Given the description of an element on the screen output the (x, y) to click on. 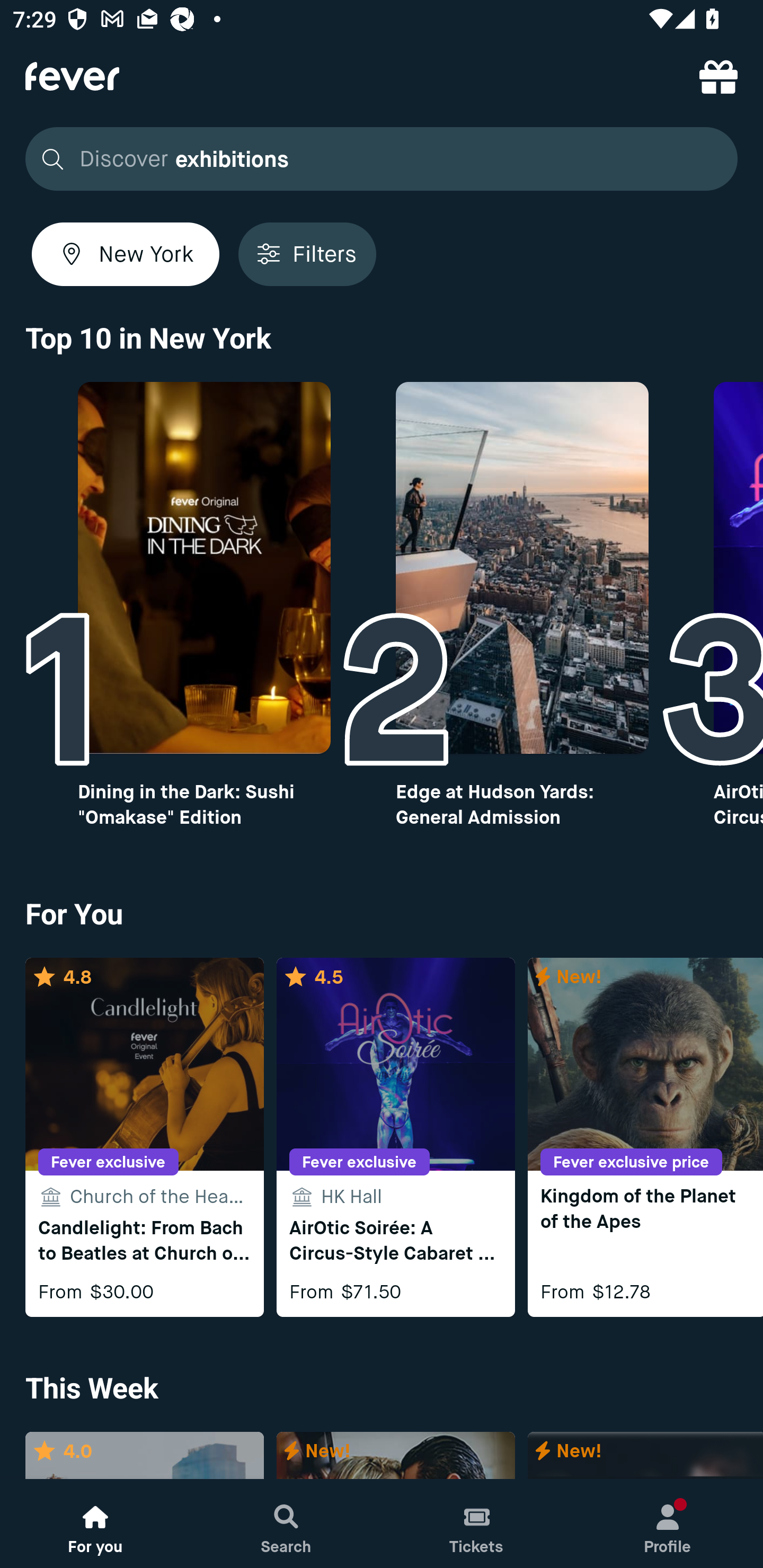
referral (718, 75)
Discover exhibitions (381, 158)
Discover exhibitions (376, 158)
New York (125, 253)
Filters (307, 253)
Top10 image (203, 568)
Top10 image (521, 568)
Search (285, 1523)
Tickets (476, 1523)
Profile, New notification Profile (667, 1523)
